Given the description of an element on the screen output the (x, y) to click on. 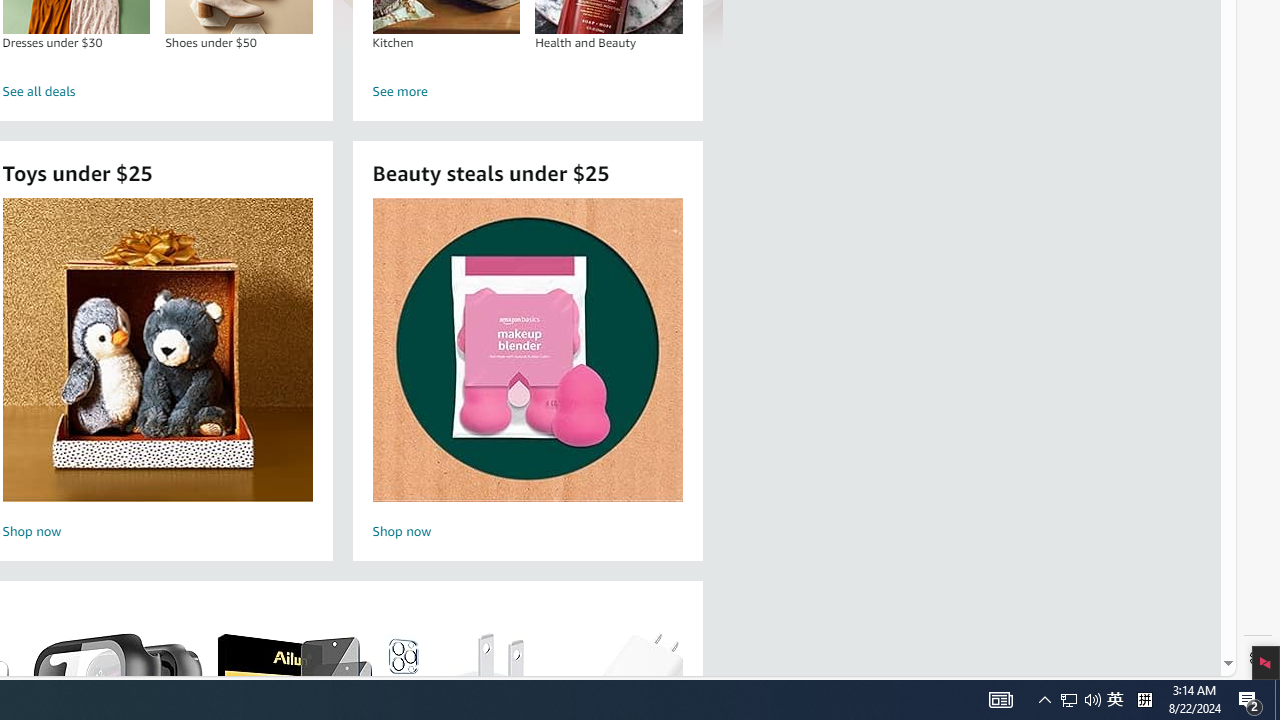
See more (527, 92)
Settings (1258, 658)
See all deals (157, 92)
Beauty steals under $25 (526, 349)
Beauty steals under $25 Shop now (527, 371)
